Given the description of an element on the screen output the (x, y) to click on. 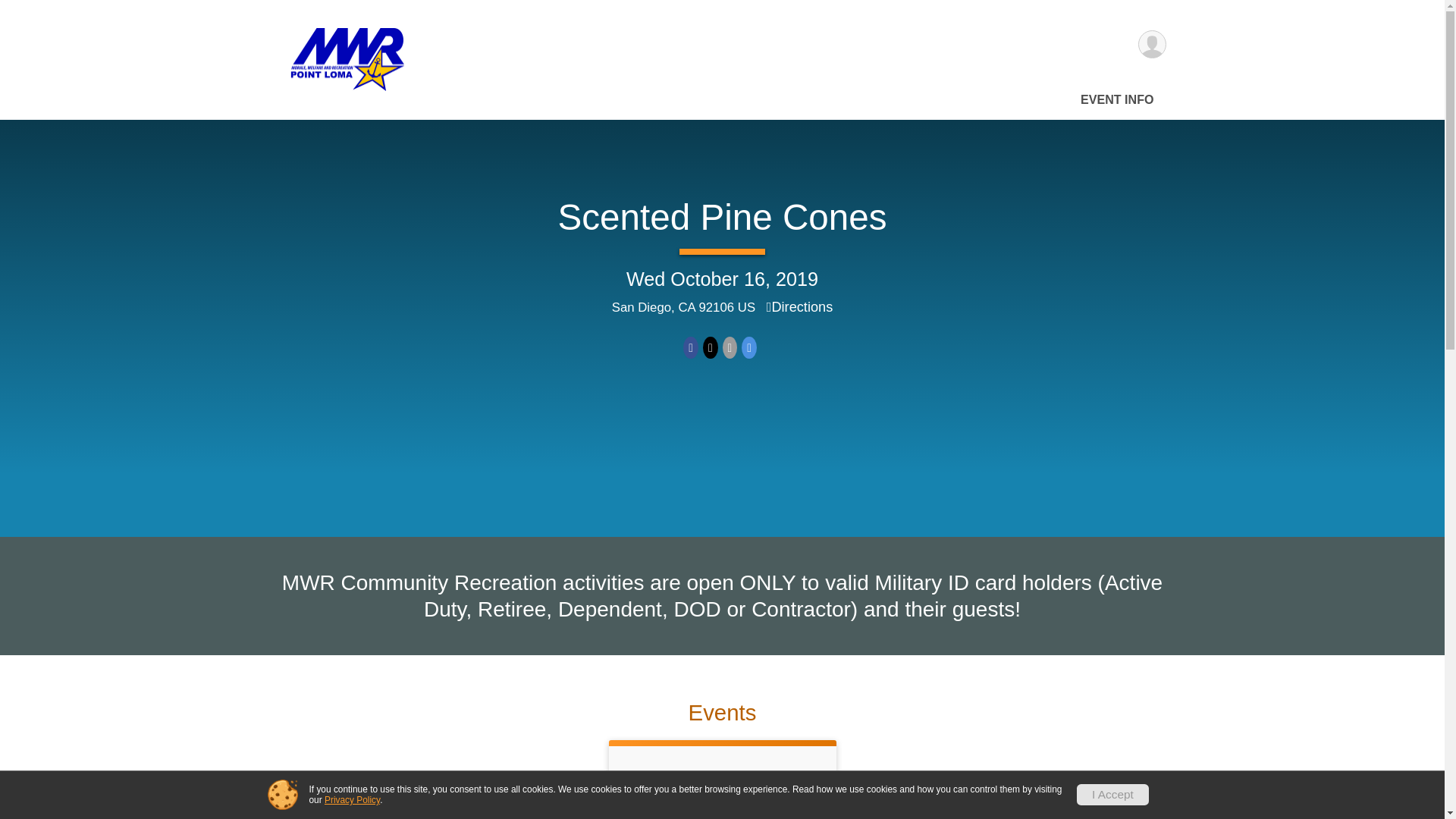
Scented Pine Cones (721, 217)
Privacy Policy (352, 799)
Scented Pine Cones (722, 783)
Directions (799, 306)
EVENT INFO (1117, 98)
I Accept (1112, 794)
